Given the description of an element on the screen output the (x, y) to click on. 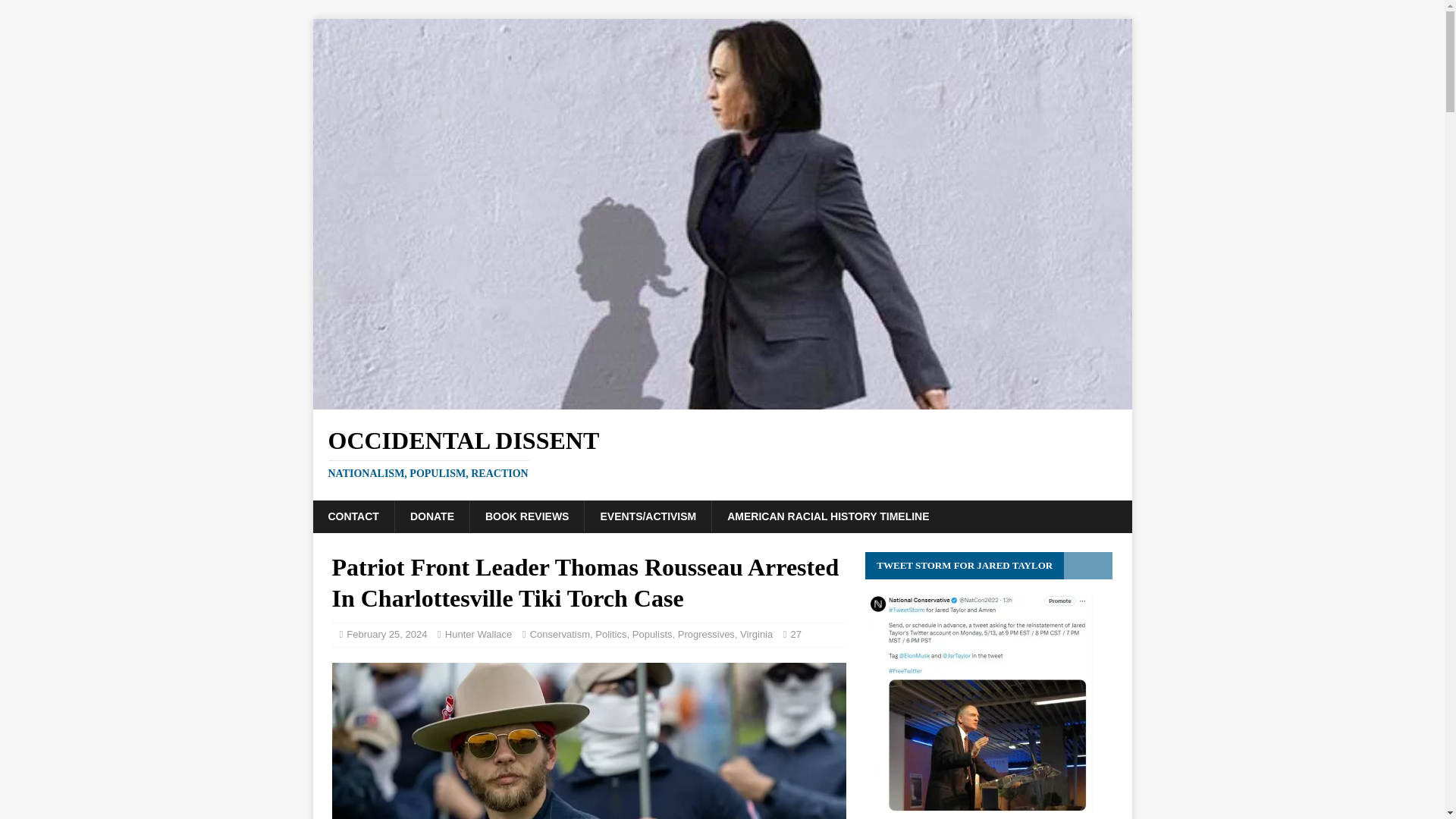
Virginia (756, 633)
Progressives (706, 633)
Hunter Wallace (478, 633)
CONTACT (721, 453)
Politics (353, 516)
Conservatism (610, 633)
Occidental Dissent (559, 633)
Populists (721, 453)
Occidental Dissent (651, 633)
